Given the description of an element on the screen output the (x, y) to click on. 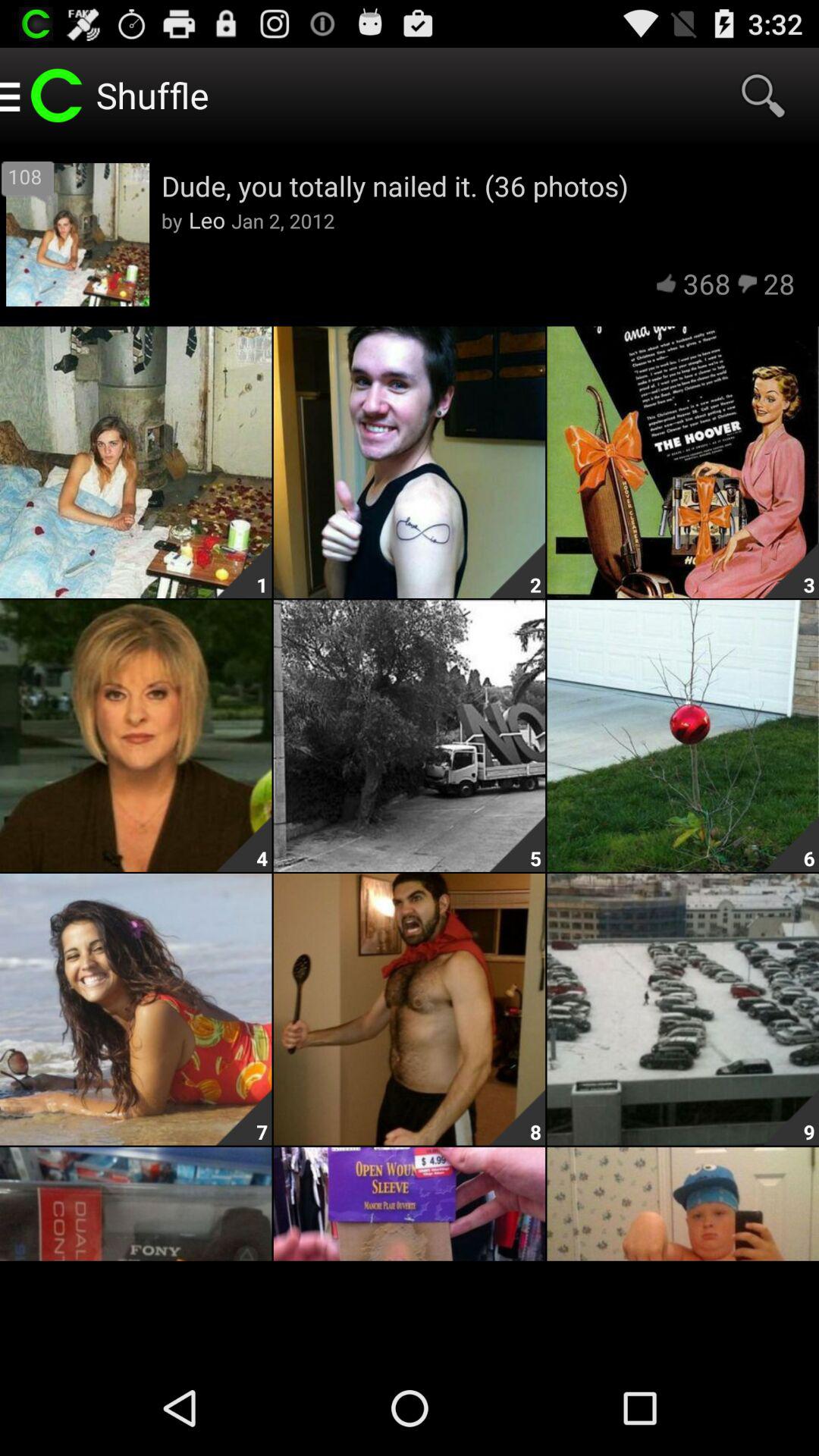
turn off item above the dude you totally item (763, 95)
